Given the description of an element on the screen output the (x, y) to click on. 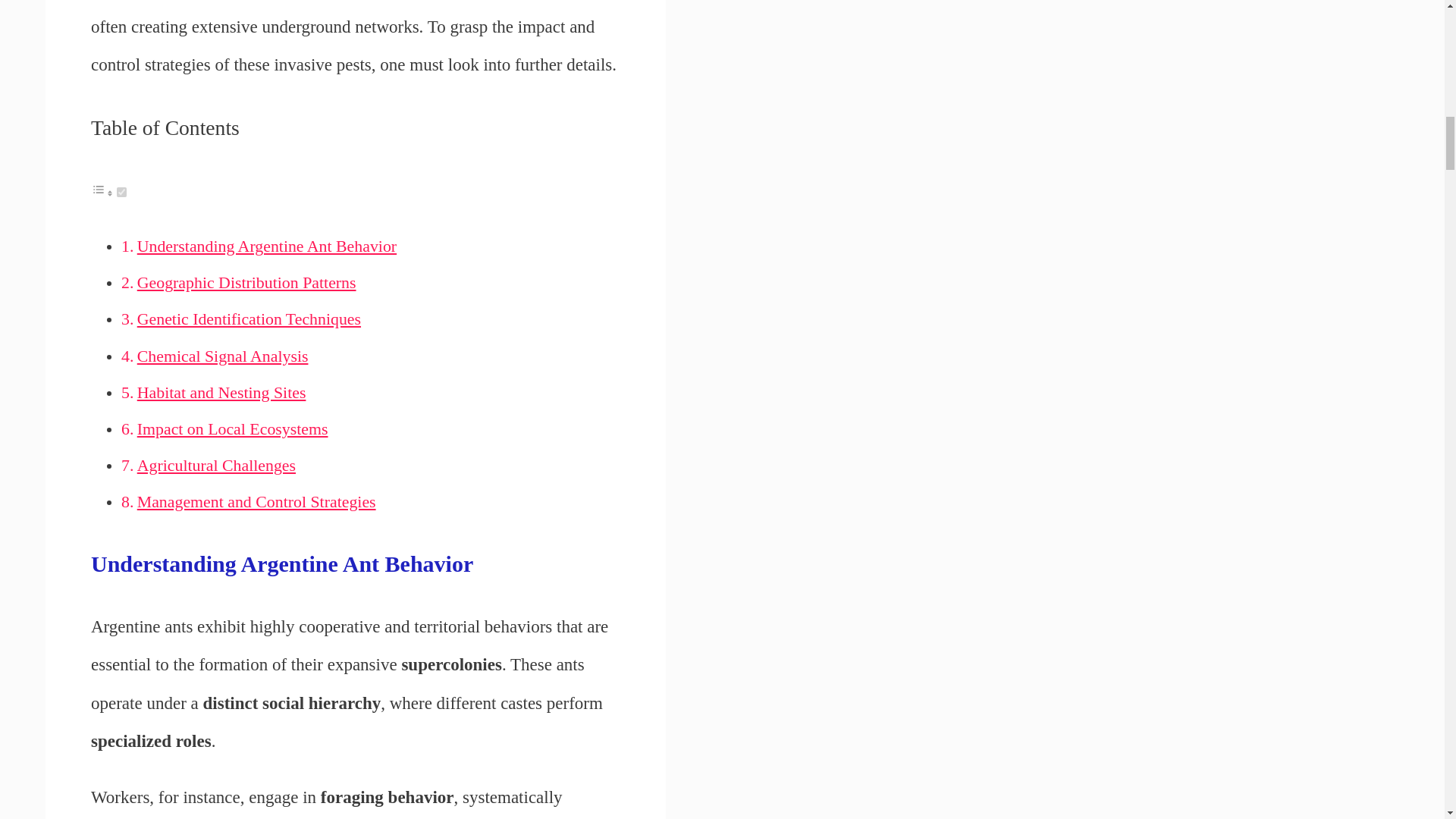
Agricultural Challenges (215, 465)
Impact on Local Ecosystems (232, 429)
Genetic Identification Techniques (248, 319)
Chemical Signal Analysis (222, 356)
Understanding Argentine Ant Behavior (266, 246)
Habitat and Nesting Sites (220, 393)
Genetic Identification Techniques (248, 319)
on (121, 192)
Geographic Distribution Patterns (246, 282)
Habitat and Nesting Sites (220, 393)
